Given the description of an element on the screen output the (x, y) to click on. 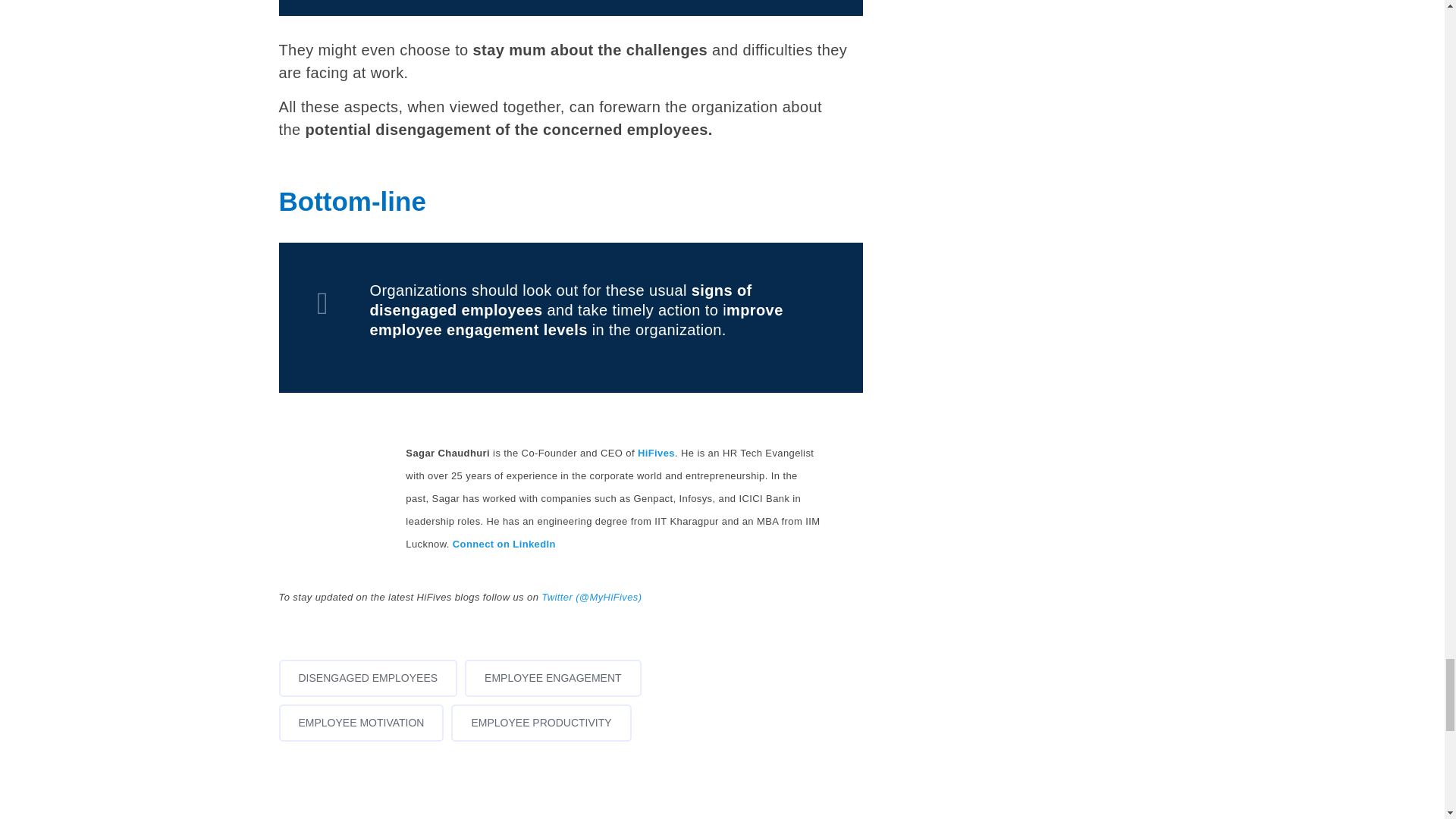
Connect on LinkedIn (504, 543)
DISENGAGED EMPLOYEES (368, 678)
HiFives (656, 452)
EMPLOYEE MOTIVATION (361, 722)
EMPLOYEE ENGAGEMENT (552, 678)
EMPLOYEE PRODUCTIVITY (540, 722)
